Given the description of an element on the screen output the (x, y) to click on. 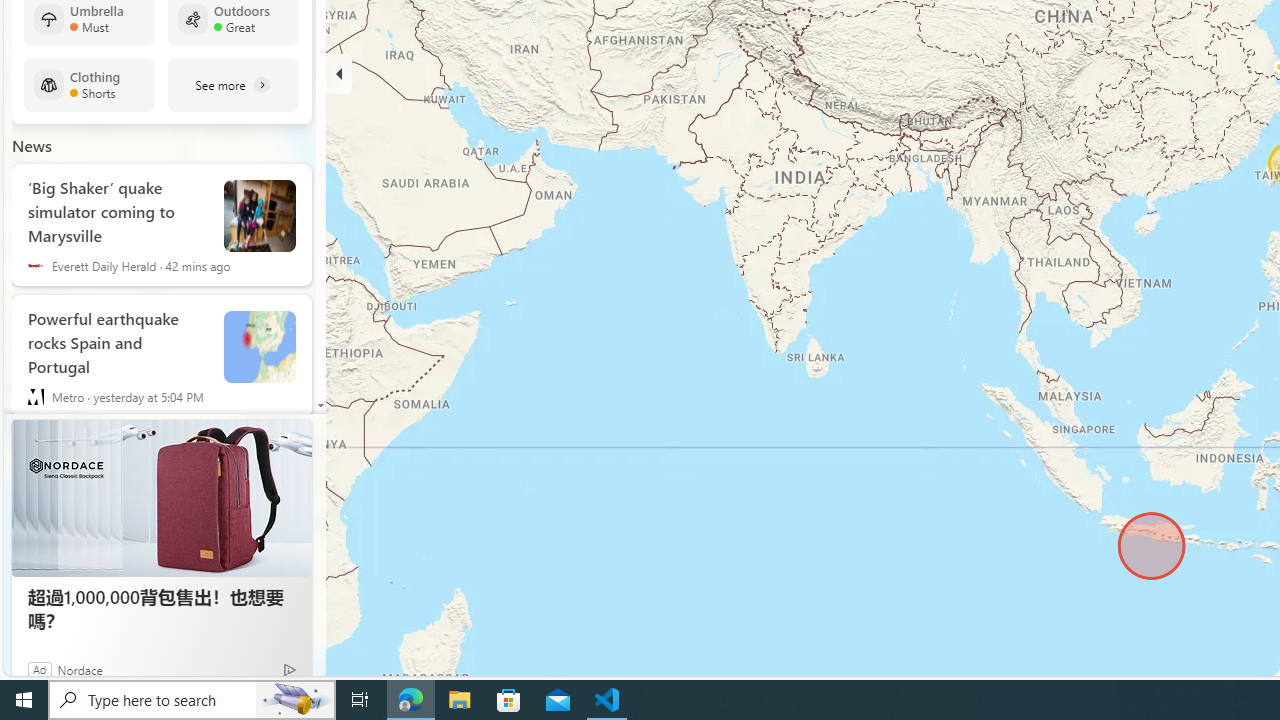
Clothing Shorts (89, 85)
Metro (35, 396)
Hide (339, 73)
Powerful earthquake rocks Spain and Portugal (259, 347)
Powerful earthquake rocks Spain and Portugal (117, 339)
Everett Daily Herald (35, 265)
